Given the description of an element on the screen output the (x, y) to click on. 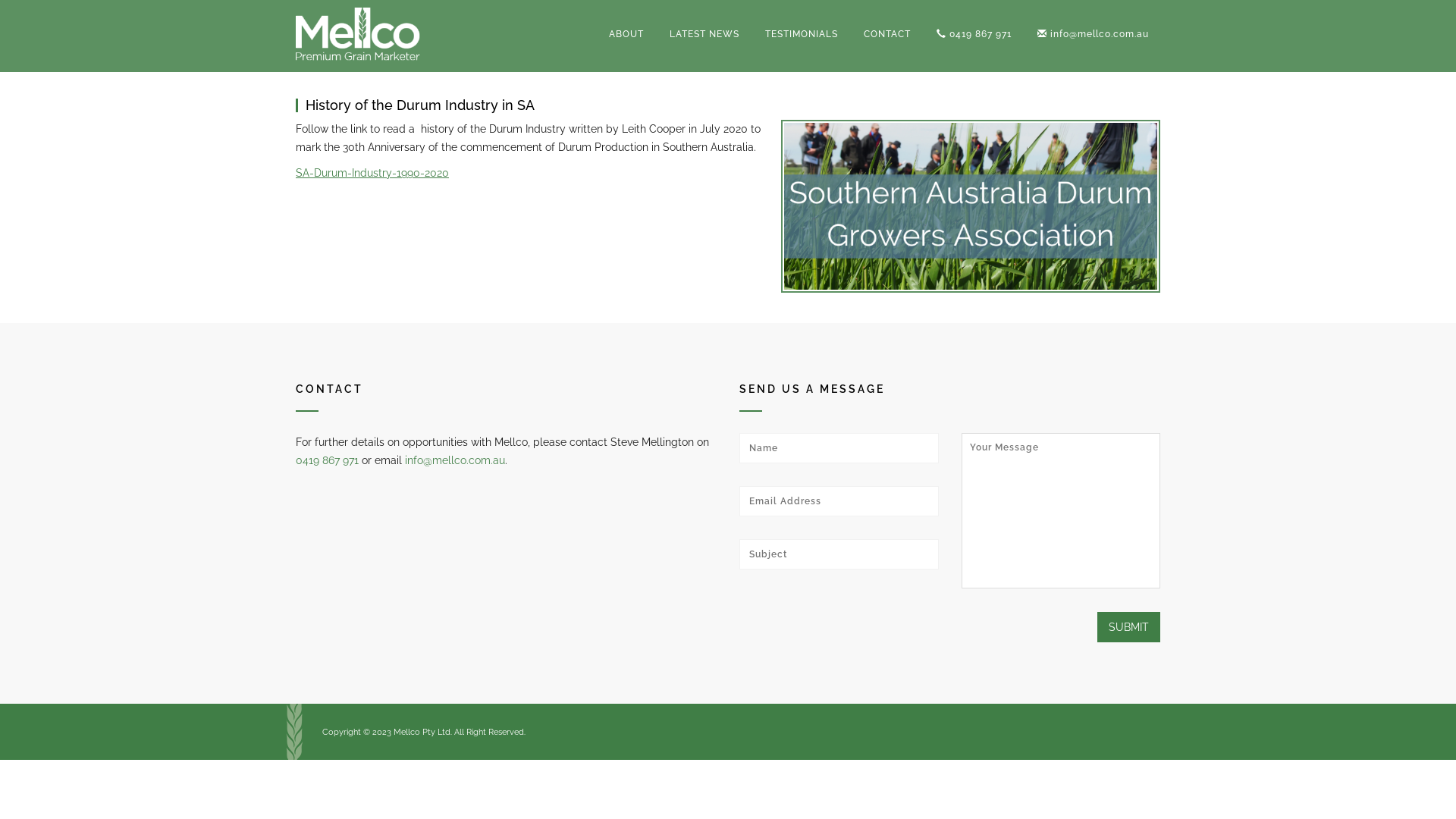
Submit Element type: text (1128, 626)
SA-Durum-Industry-1990-2020 Element type: text (371, 172)
ABOUT Element type: text (626, 33)
0419 867 971 Element type: text (326, 460)
TESTIMONIALS Element type: text (801, 33)
History of the Durum Industry in SA Element type: text (419, 104)
info@mellco.com.au Element type: text (454, 460)
info@mellco.com.au Element type: text (1093, 33)
LATEST NEWS Element type: text (704, 33)
CONTACT Element type: text (887, 33)
0419 867 971 Element type: text (973, 33)
